Given the description of an element on the screen output the (x, y) to click on. 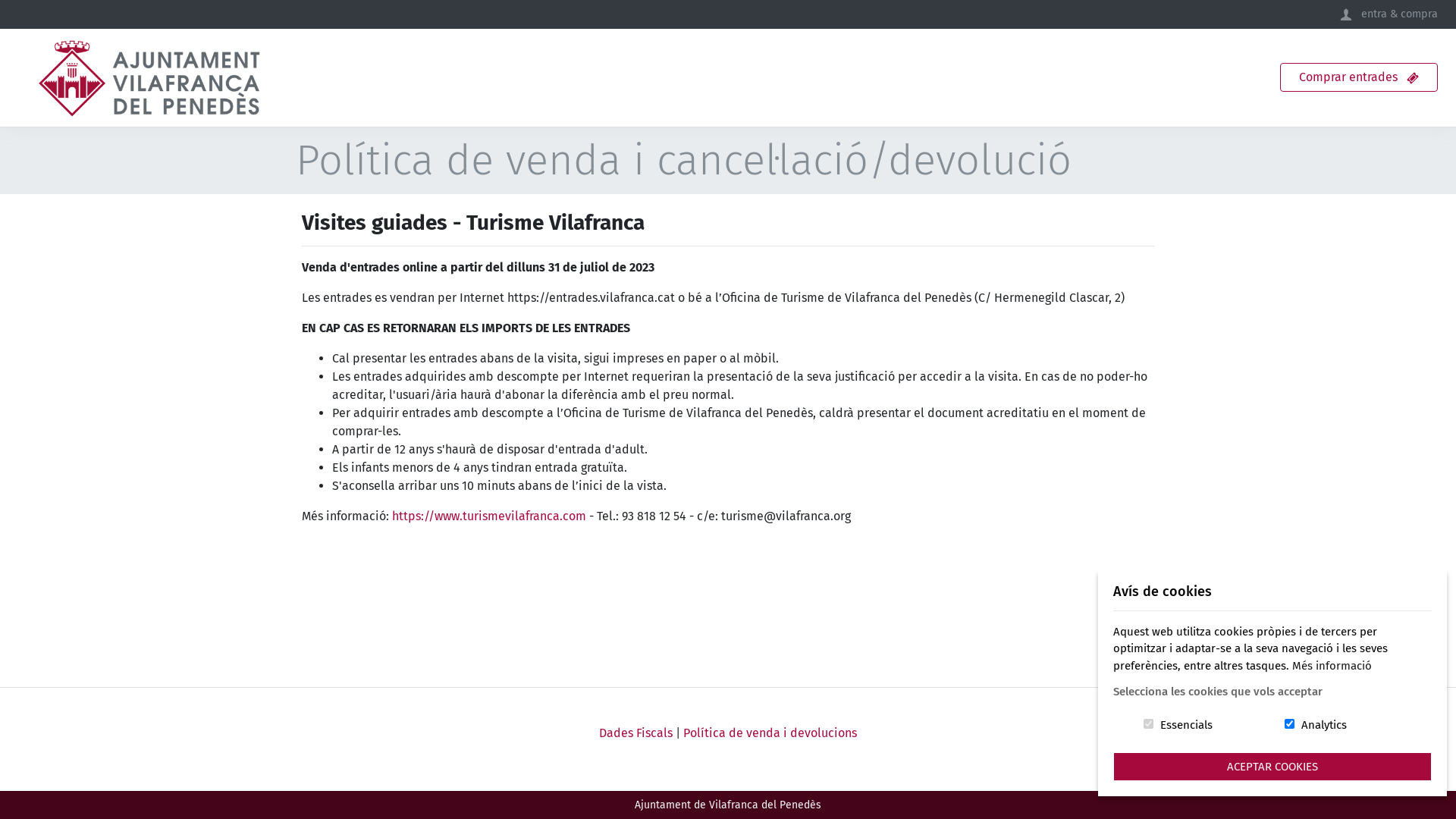
Comprar entrades   Element type: text (1358, 76)
Dades Fiscals Element type: text (635, 732)
  entra & compra Element type: text (1388, 14)
https://www.turismevilafranca.com Element type: text (488, 515)
ACEPTAR COOKIES Element type: text (1272, 766)
